Given the description of an element on the screen output the (x, y) to click on. 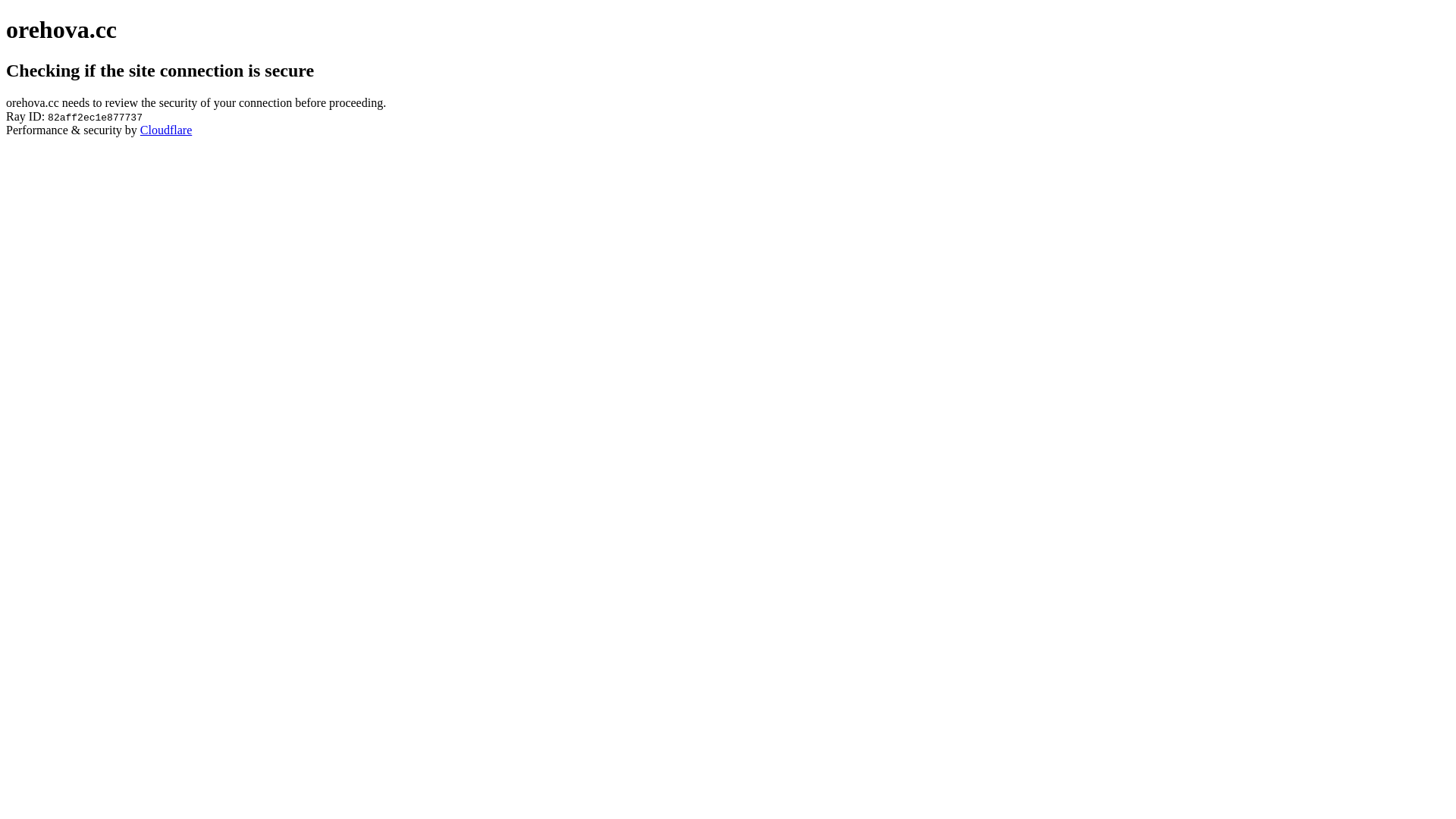
Cloudflare Element type: text (165, 129)
